Given the description of an element on the screen output the (x, y) to click on. 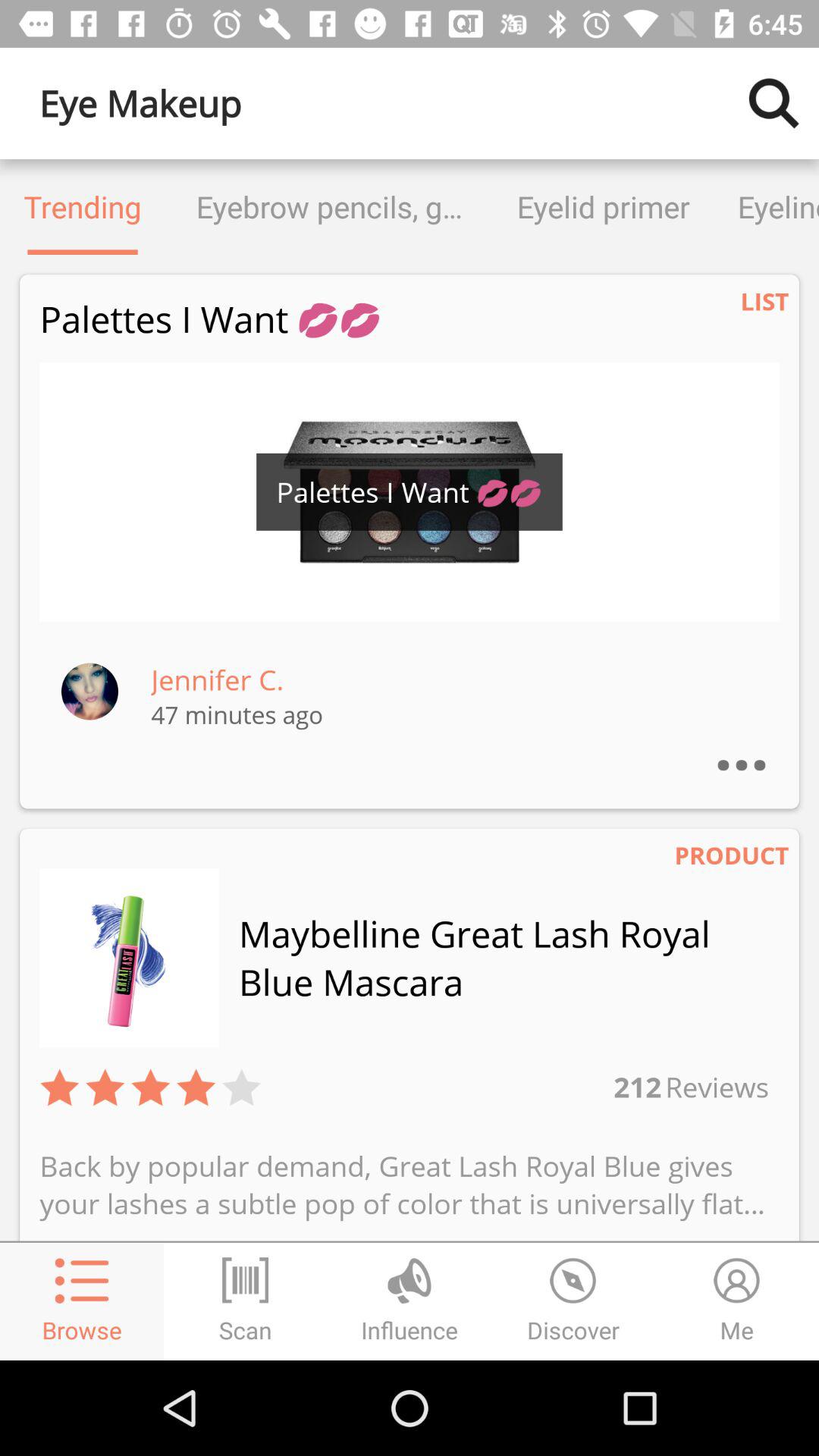
select 47 minutes ago item (237, 714)
